Given the description of an element on the screen output the (x, y) to click on. 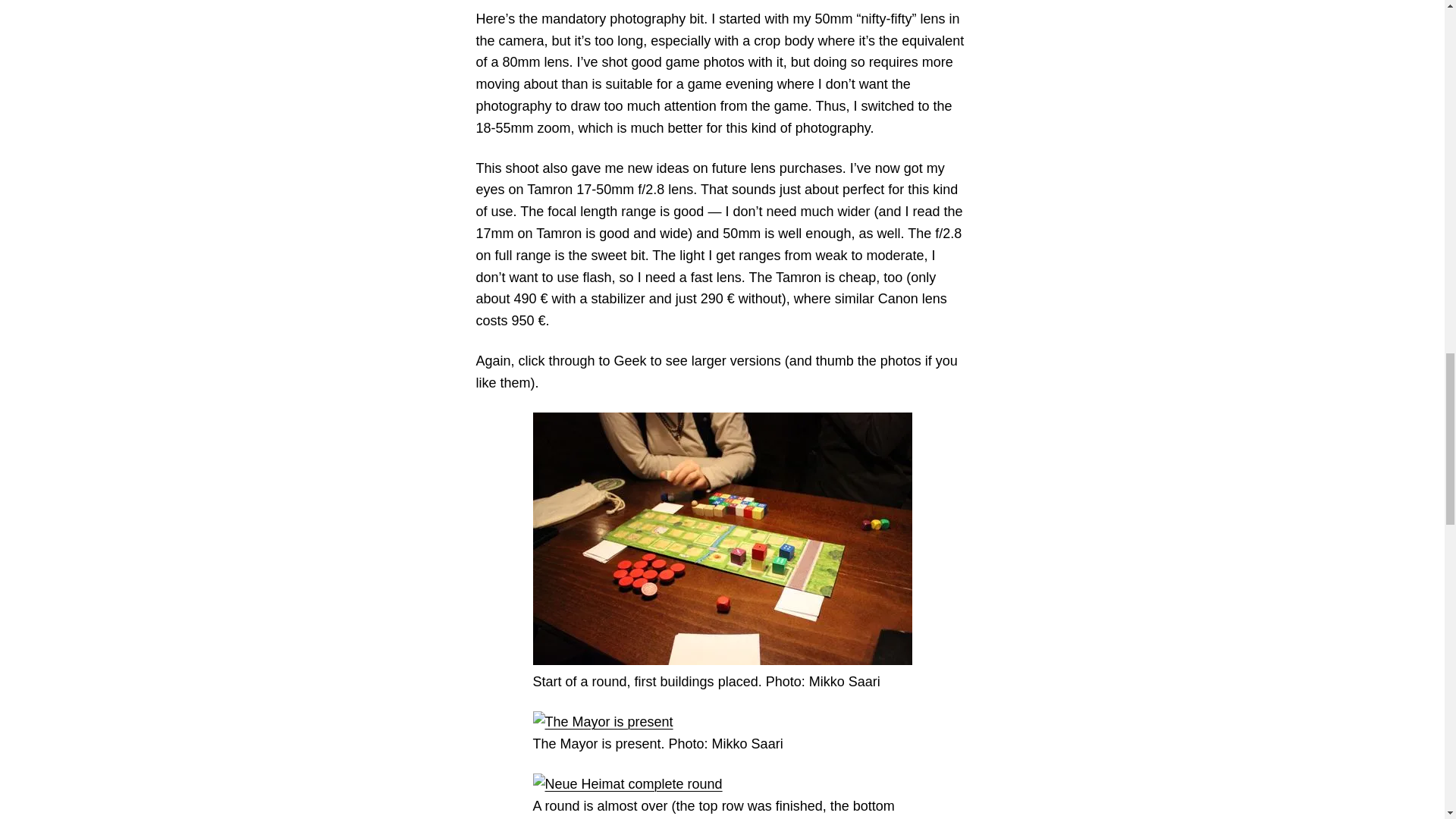
Neue Heimat Mayor  (602, 722)
A new city almost done (627, 784)
Playing Neue Heimat (721, 538)
